Given the description of an element on the screen output the (x, y) to click on. 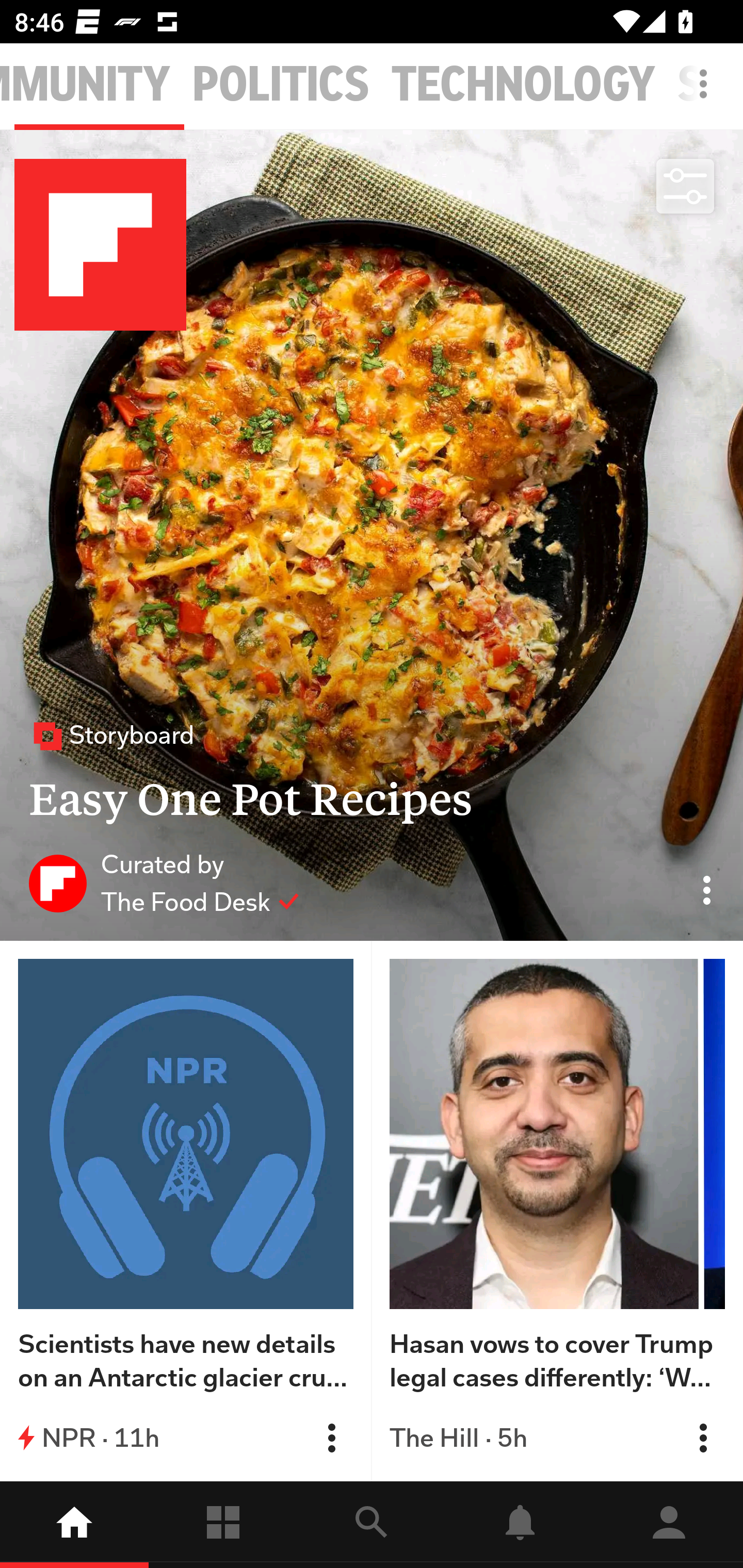
COMMUNITY (85, 84)
POLITICS (281, 84)
TECHNOLOGY (523, 84)
More options (706, 93)
Curated by The Food Desk (163, 882)
NPR · 11h Flip into Magazine (185, 1437)
The Hill · 5h Flip into Magazine (557, 1437)
Flip into Magazine (331, 1437)
Flip into Magazine (703, 1437)
home (74, 1524)
Following (222, 1524)
explore (371, 1524)
Notifications (519, 1524)
Profile (668, 1524)
